Given the description of an element on the screen output the (x, y) to click on. 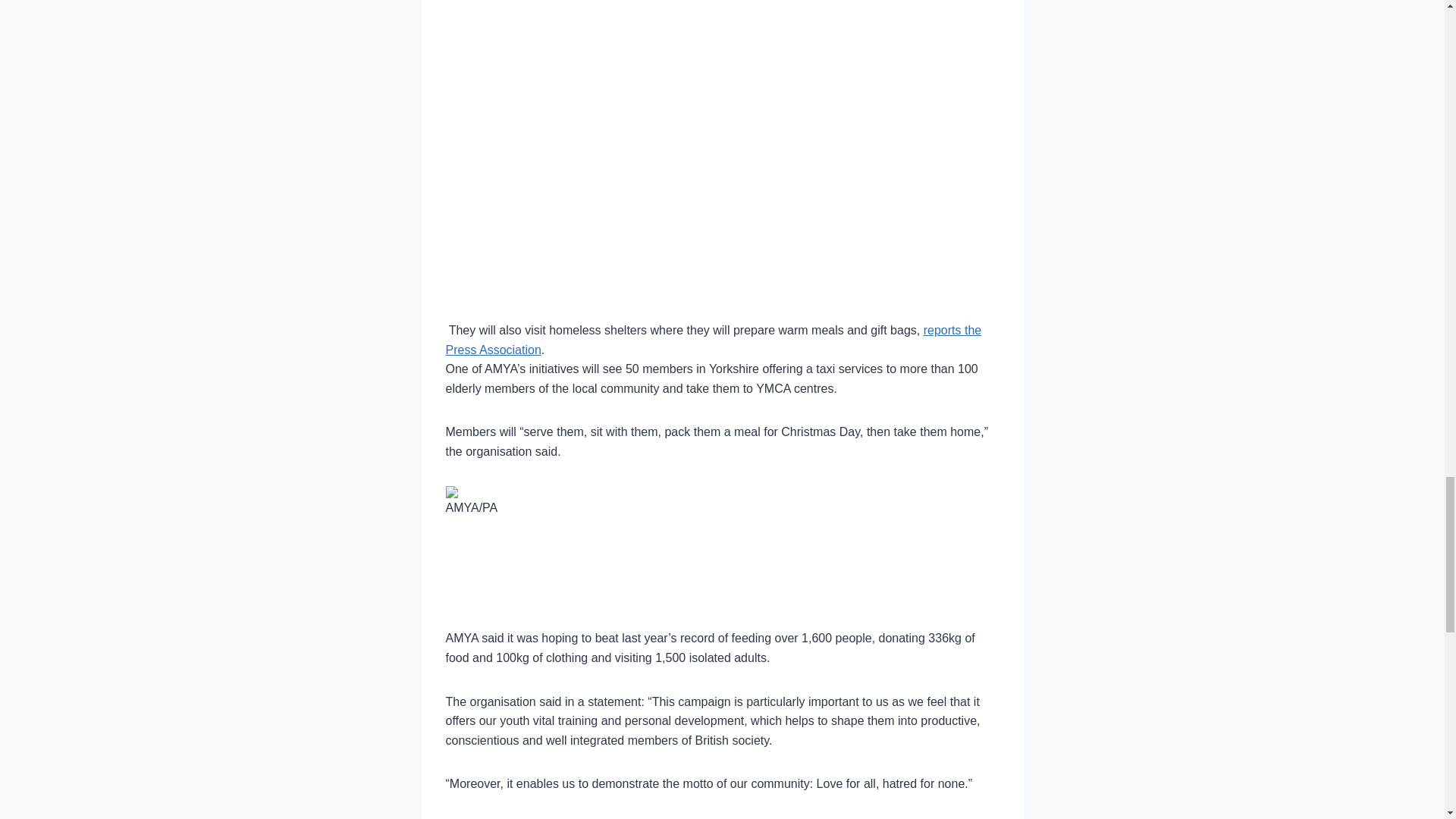
reports the Press Association (713, 339)
